Given the description of an element on the screen output the (x, y) to click on. 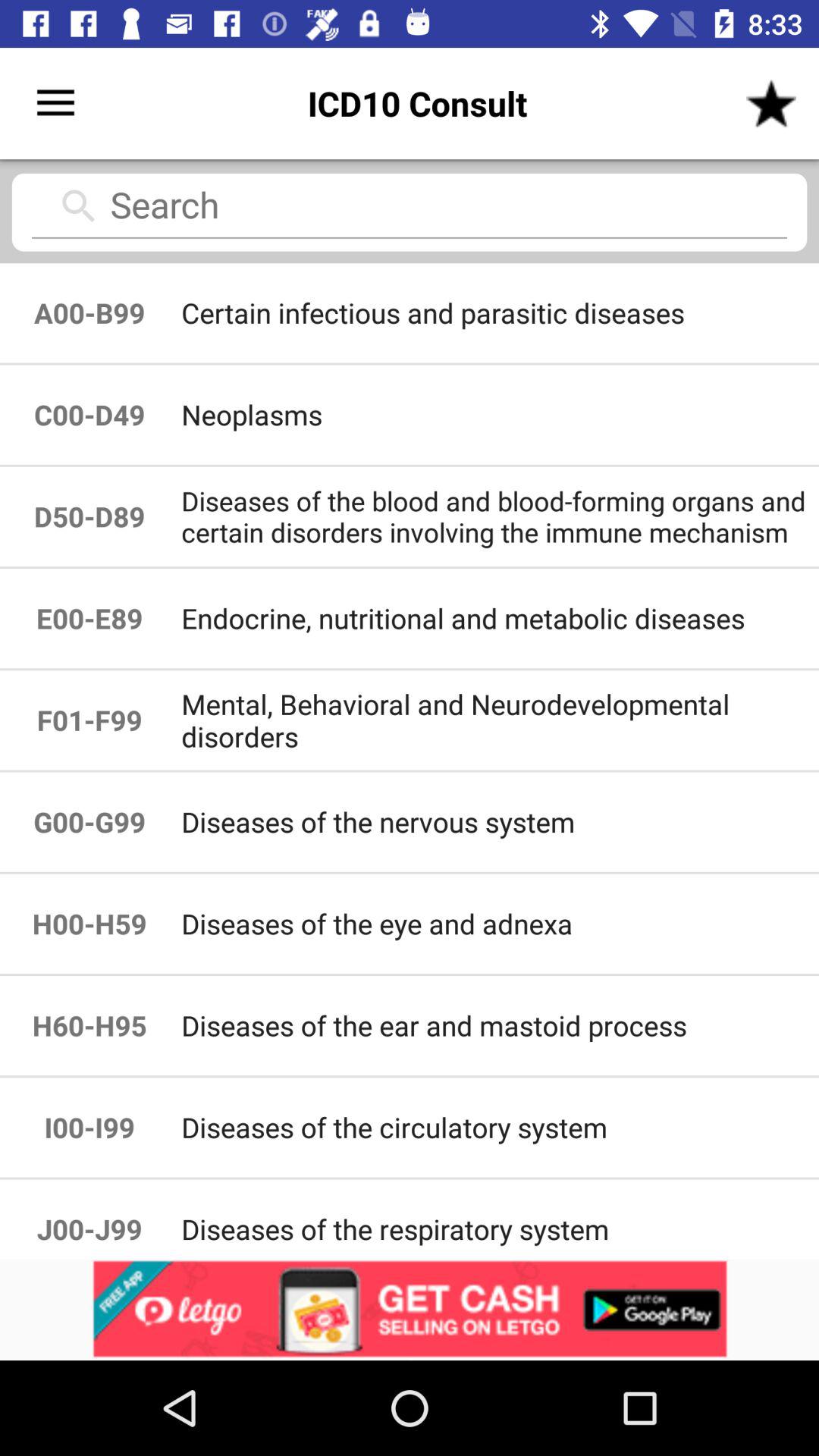
search function (409, 211)
